Given the description of an element on the screen output the (x, y) to click on. 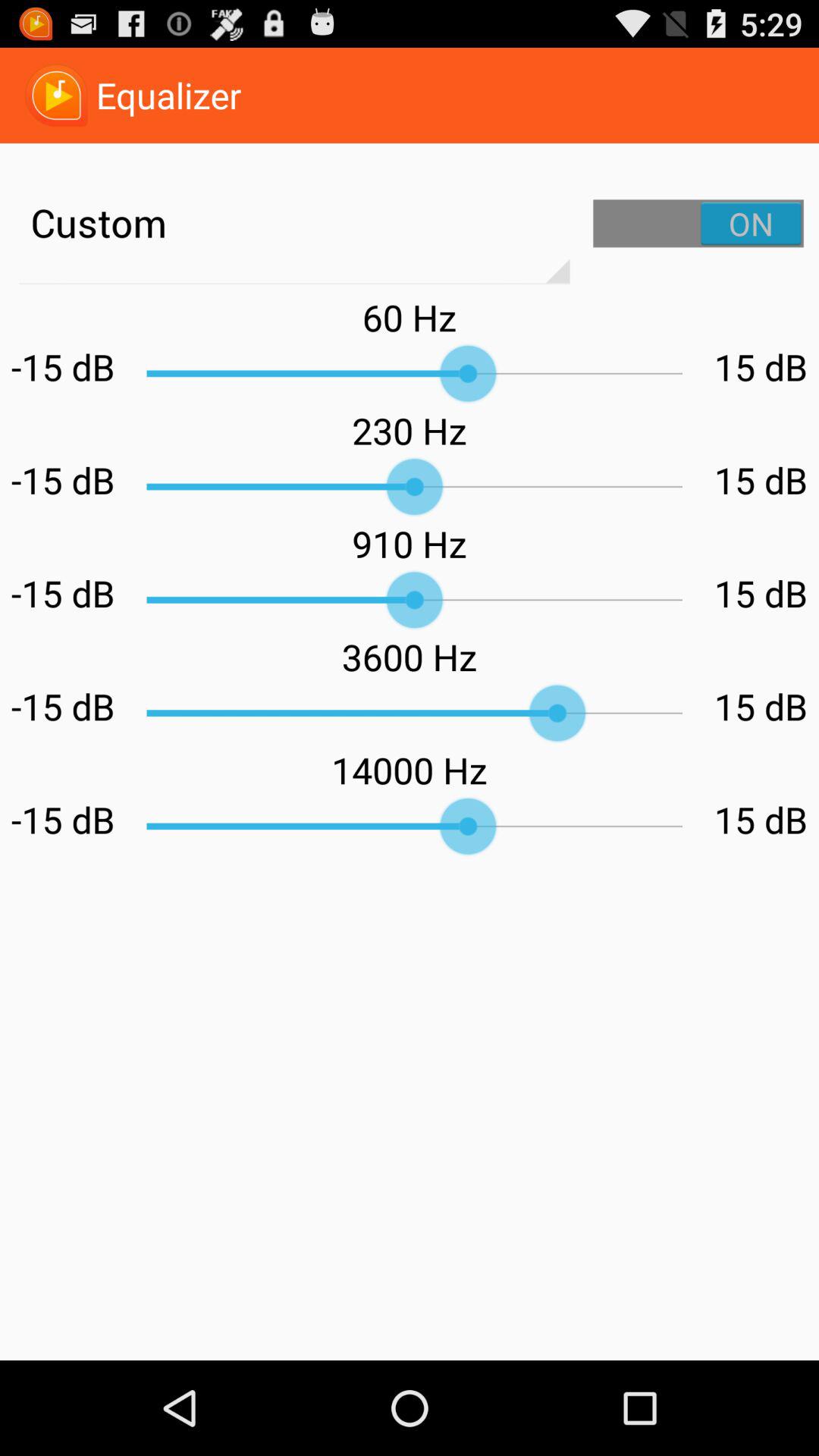
toggle on or off (698, 223)
